Given the description of an element on the screen output the (x, y) to click on. 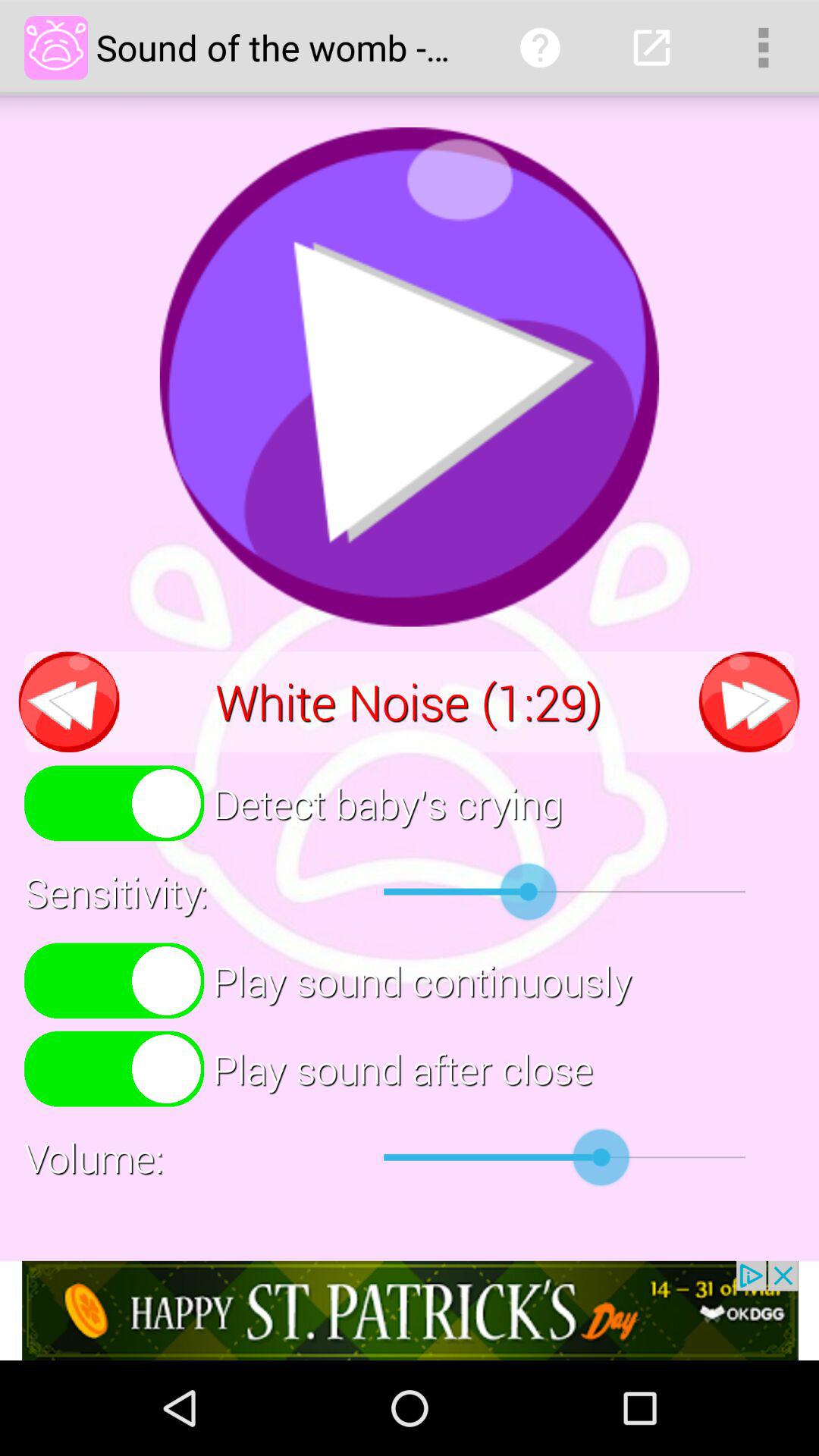
next the option (749, 701)
